Given the description of an element on the screen output the (x, y) to click on. 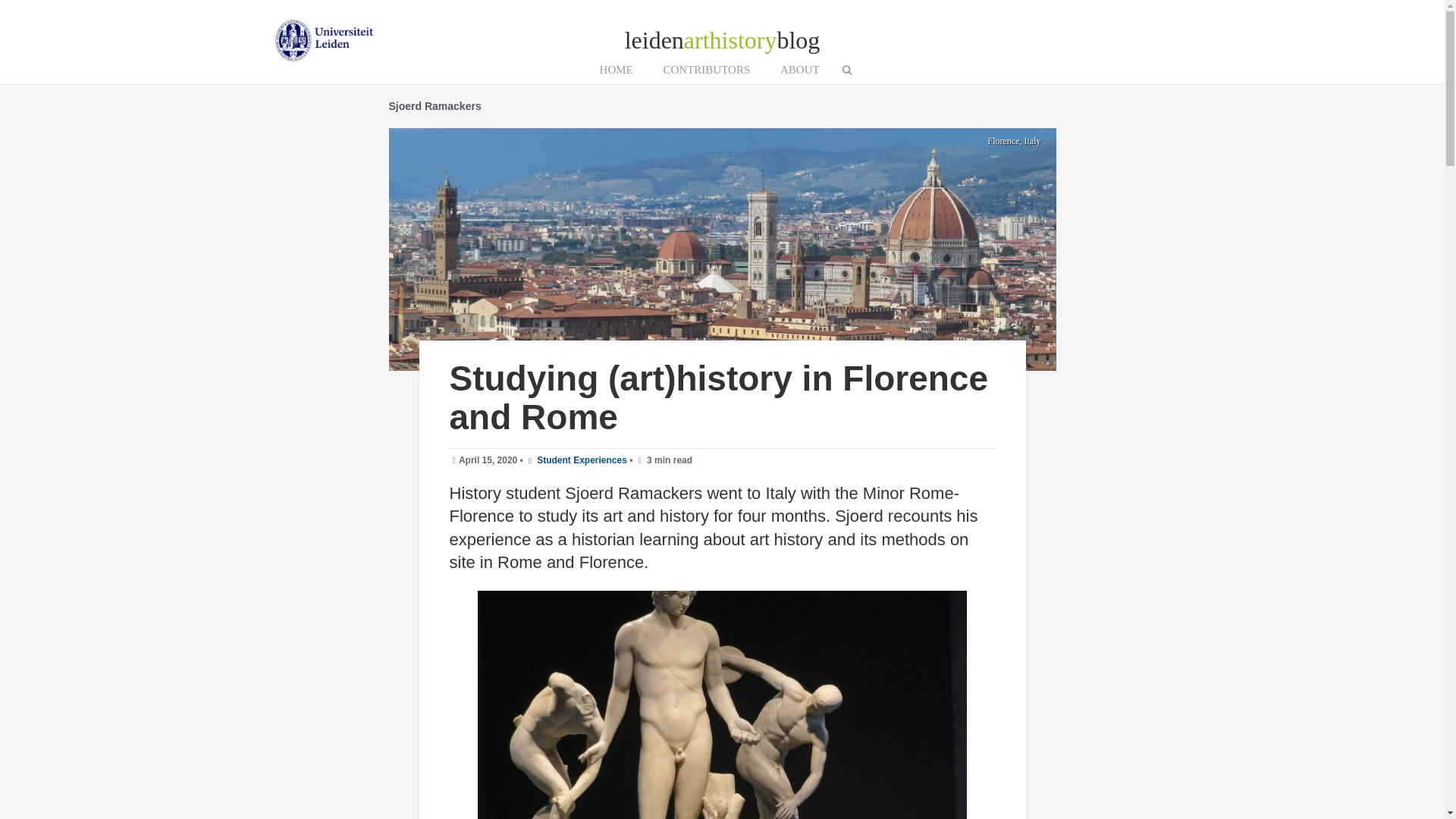
leidenarthistoryblog (722, 40)
Student Experiences (576, 460)
HOME (616, 69)
CONTRIBUTORS (705, 69)
ABOUT (799, 69)
